Given the description of an element on the screen output the (x, y) to click on. 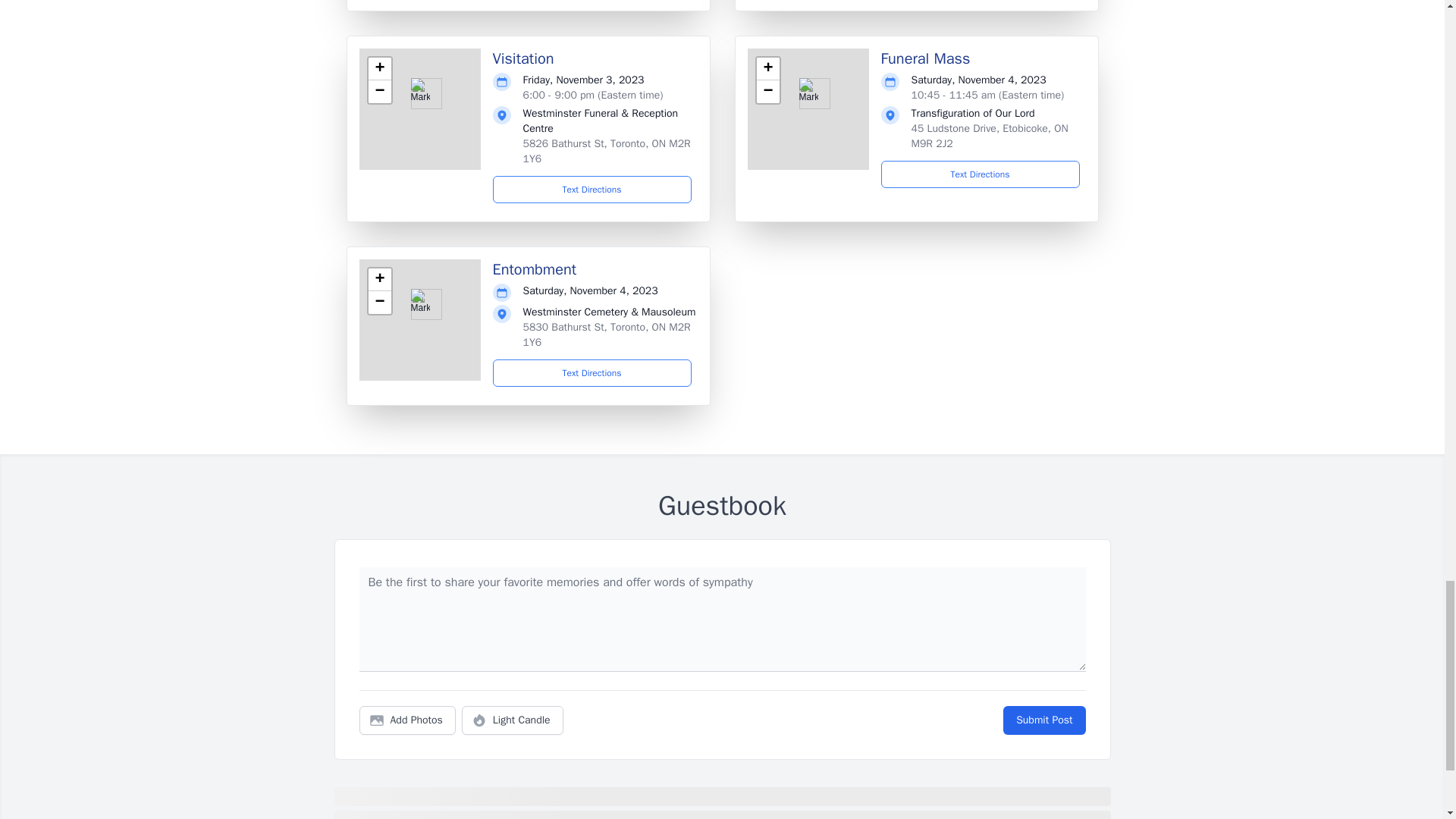
Zoom out (379, 91)
Zoom out (767, 91)
Zoom in (767, 68)
Zoom in (379, 68)
Text Directions (592, 189)
5826 Bathurst St, Toronto, ON M2R 1Y6 (606, 151)
45 Ludstone Drive, Etobicoke, ON M9R 2J2 (989, 135)
Zoom in (379, 279)
Zoom out (379, 302)
